Given the description of an element on the screen output the (x, y) to click on. 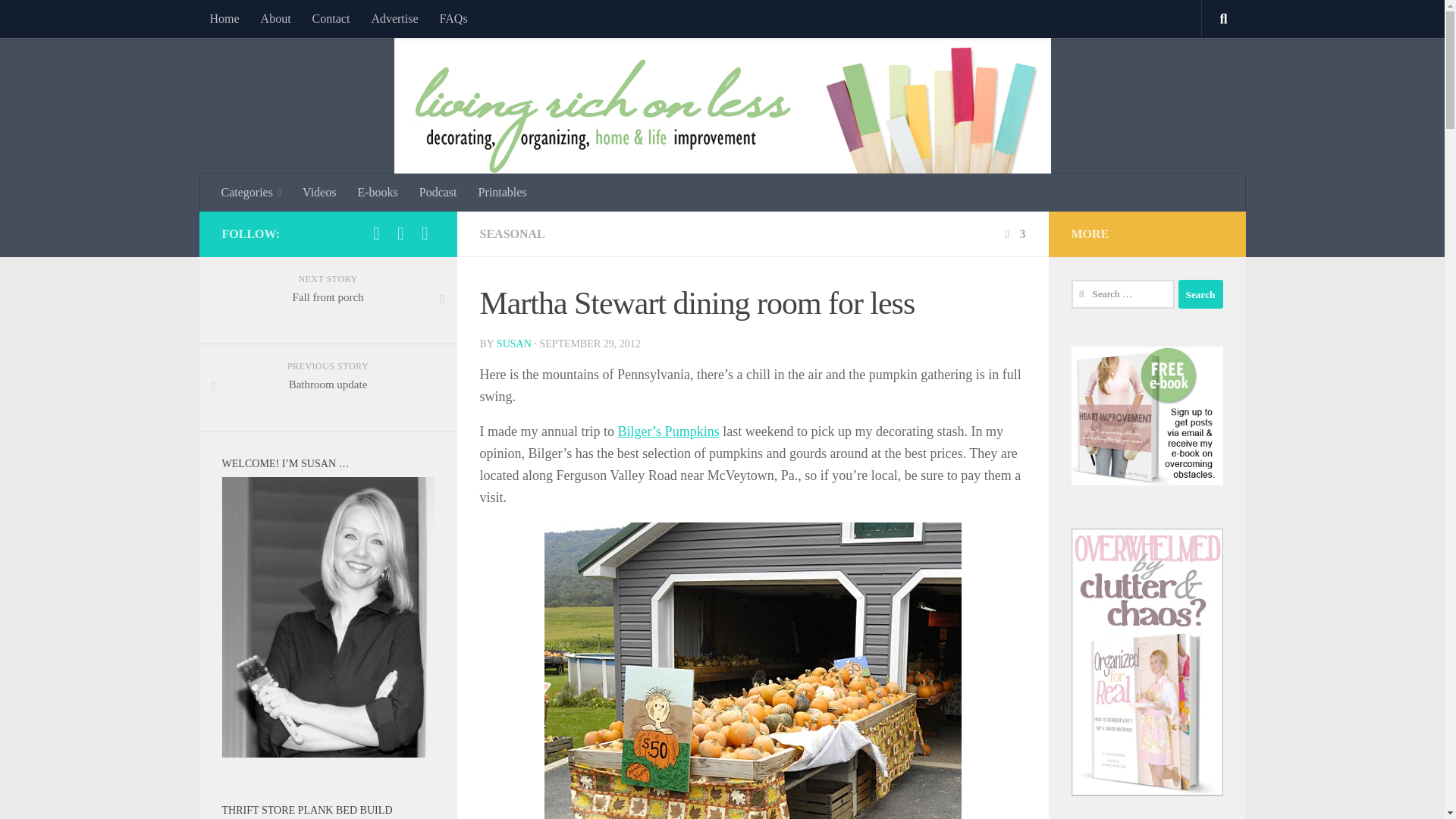
Posts by Susan (513, 343)
Search (1200, 294)
Skip to content (59, 20)
Bilgers2 (752, 670)
Search (1200, 294)
